Given the description of an element on the screen output the (x, y) to click on. 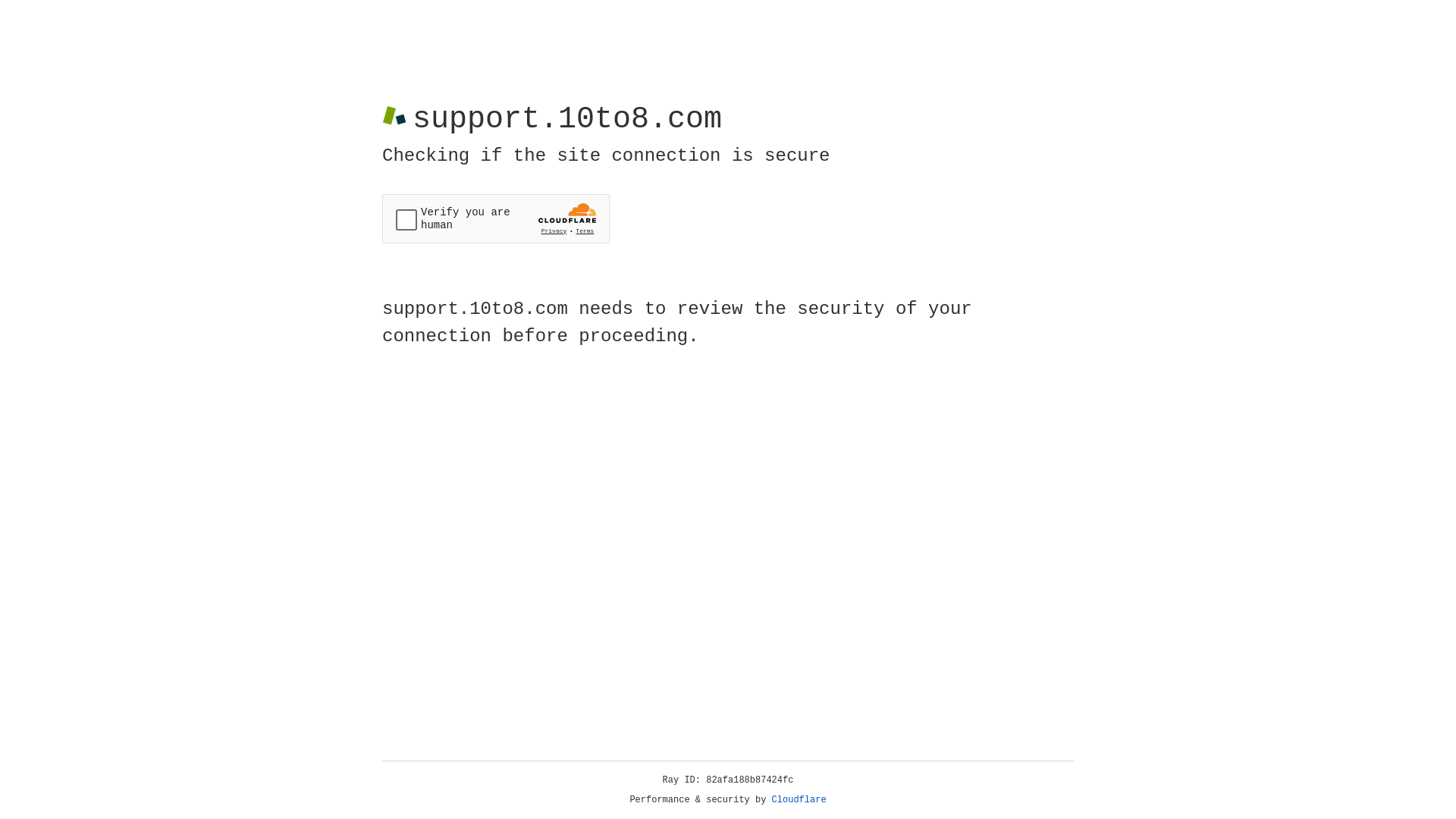
Widget containing a Cloudflare security challenge Element type: hover (495, 218)
Cloudflare Element type: text (798, 799)
